Given the description of an element on the screen output the (x, y) to click on. 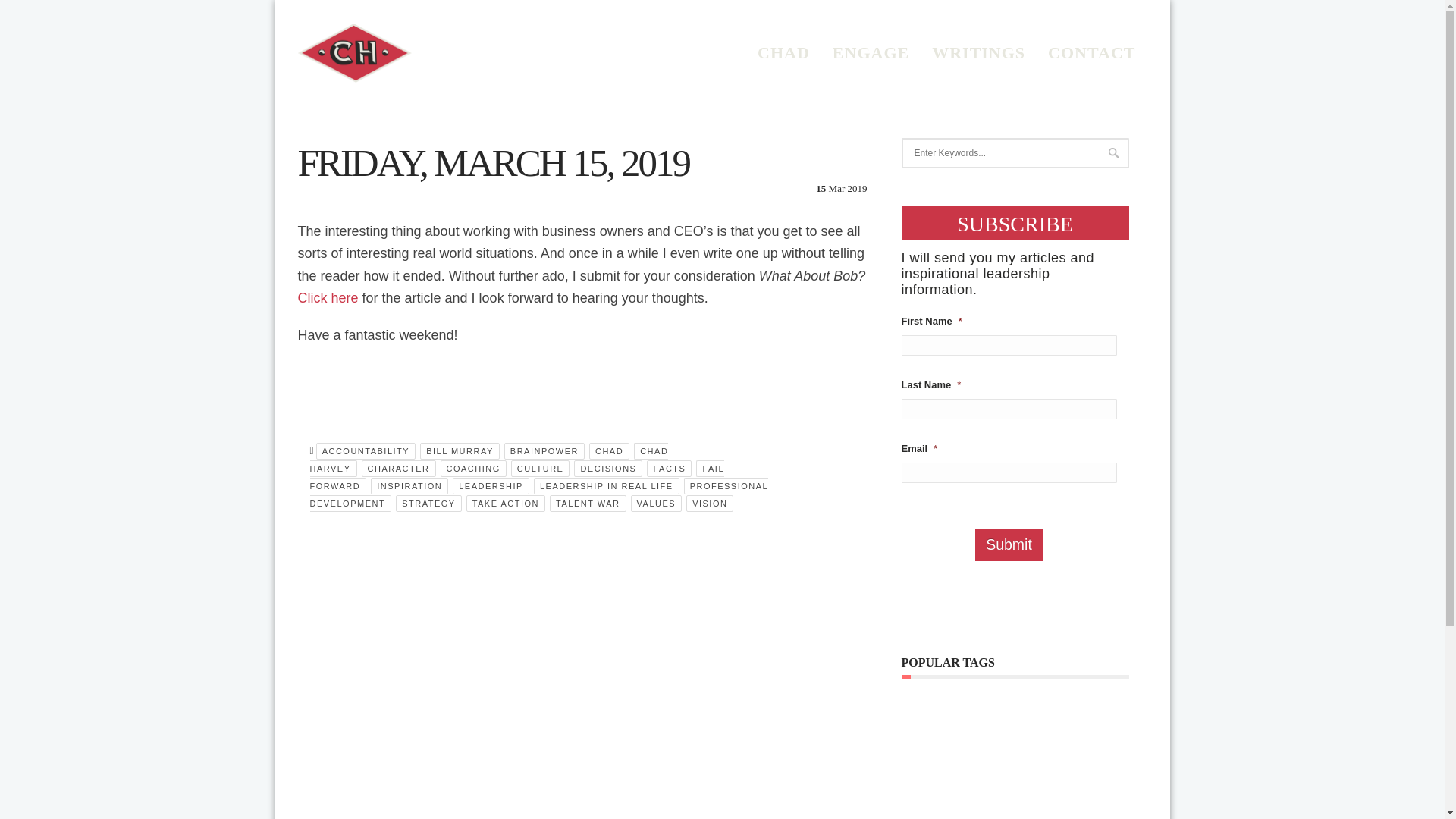
FAIL FORWARD (515, 477)
Submit (1008, 544)
CULTURE (540, 468)
BILL MURRAY (459, 451)
CHARACTER (398, 468)
INSPIRATION (409, 485)
VALUES (656, 503)
TALENT WAR (588, 503)
ACCOUNTABILITY (365, 451)
CHAD (783, 52)
